Given the description of an element on the screen output the (x, y) to click on. 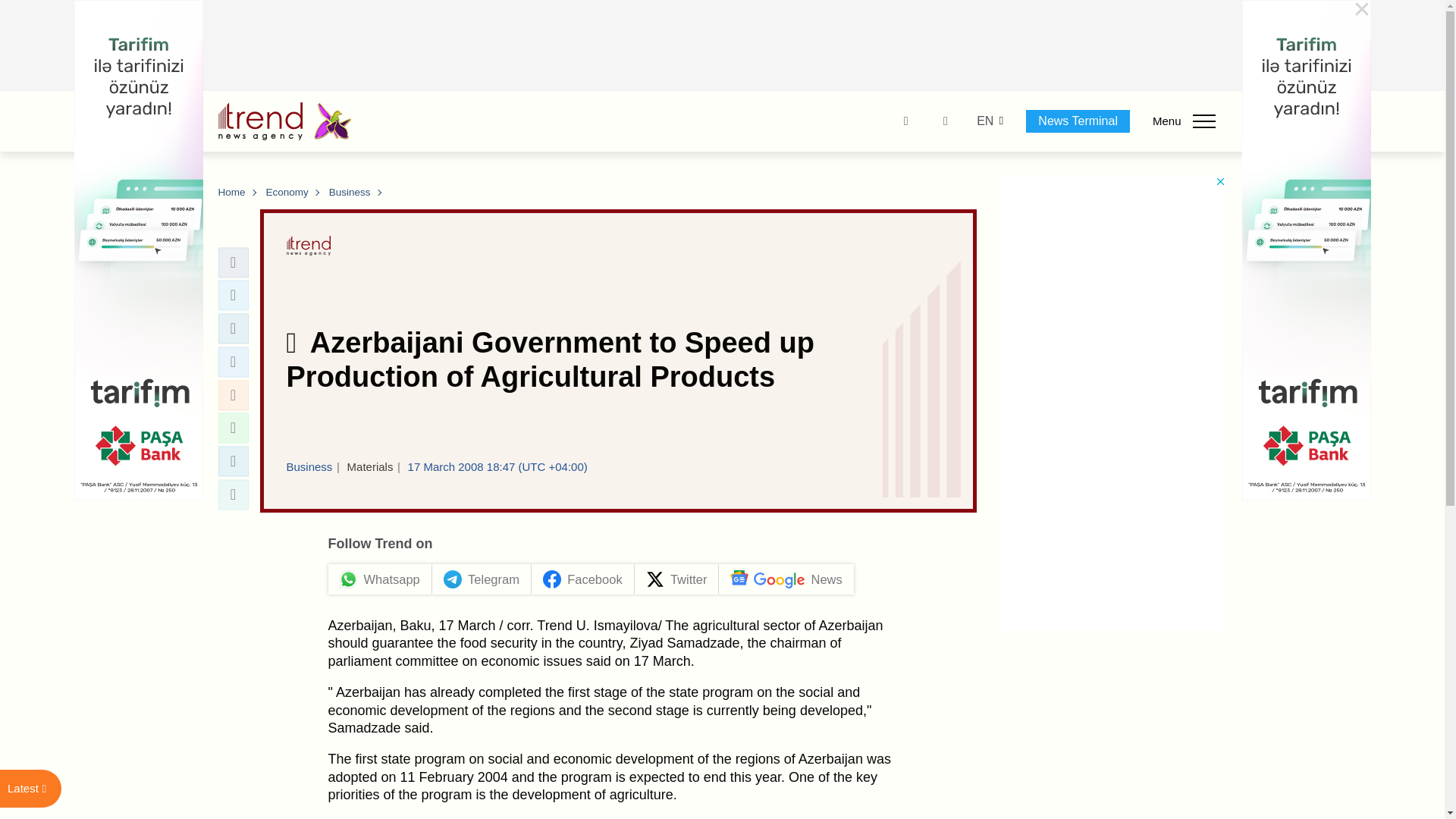
English (984, 121)
3rd party ad content (722, 45)
EN (984, 121)
News Terminal (1077, 120)
